Given the description of an element on the screen output the (x, y) to click on. 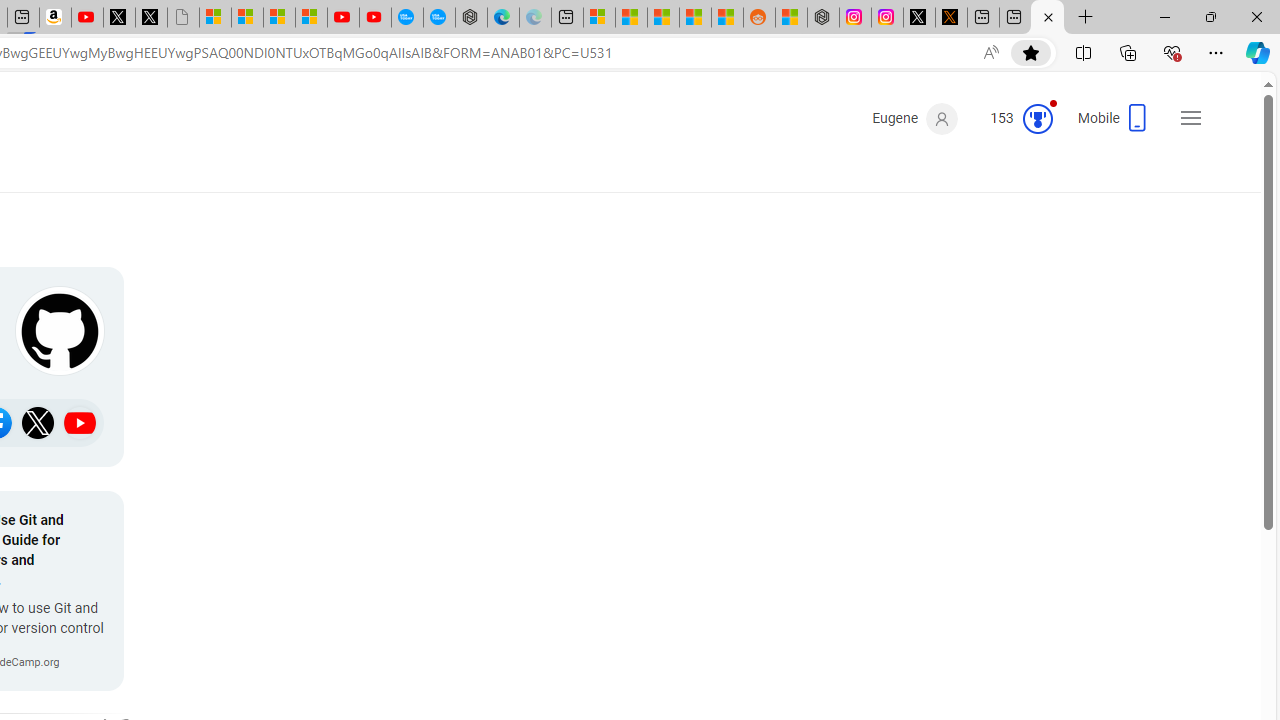
Shanghai, China hourly forecast | Microsoft Weather (663, 17)
Microsoft Rewards 153 (1014, 119)
